Given the description of an element on the screen output the (x, y) to click on. 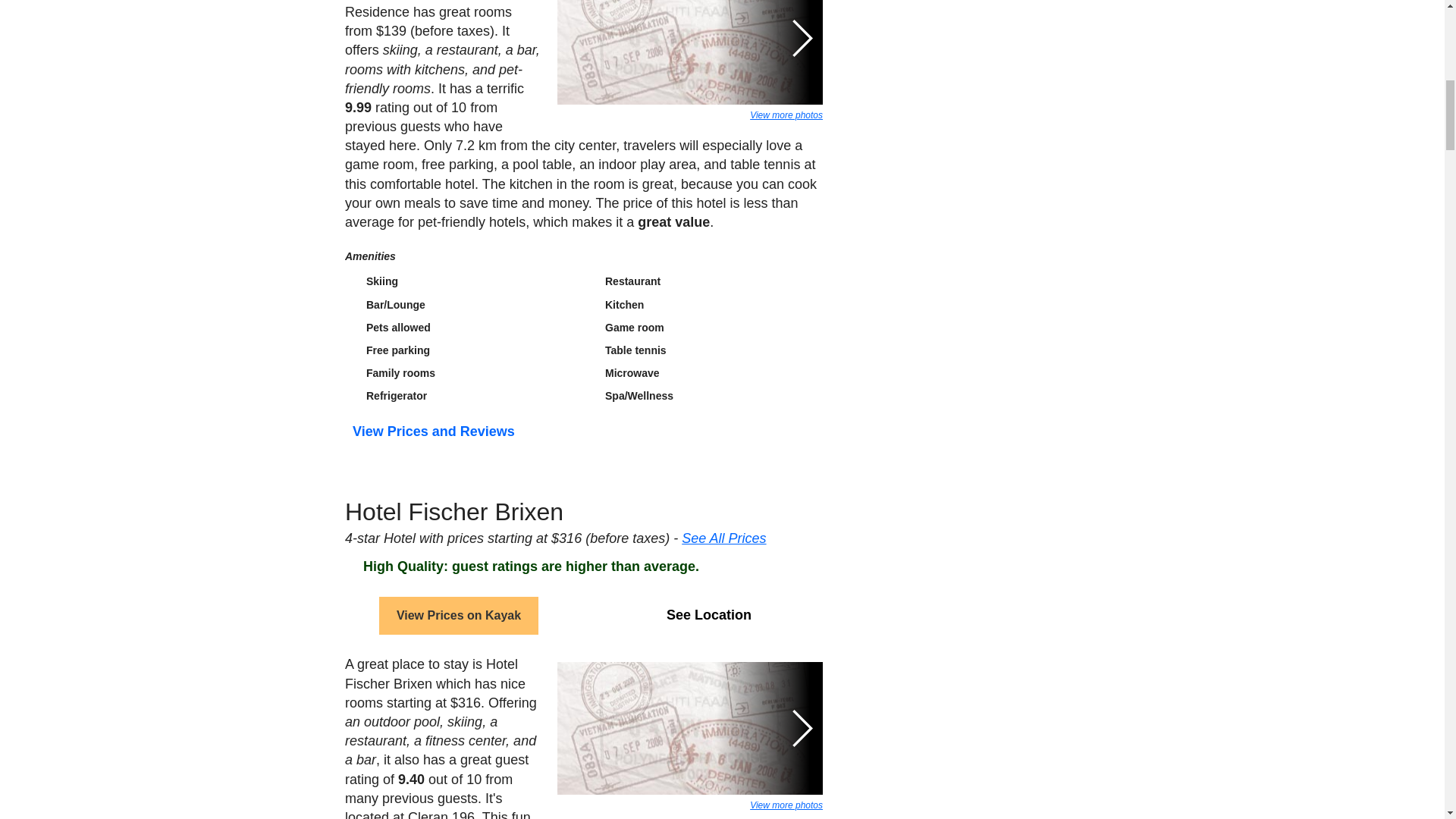
View Prices on Kayak (458, 588)
Hotel Fischer Brixen (452, 511)
See All Prices (723, 510)
View more photos (785, 114)
View more photos (785, 777)
See Location (708, 588)
View Prices and Reviews (432, 431)
